Given the description of an element on the screen output the (x, y) to click on. 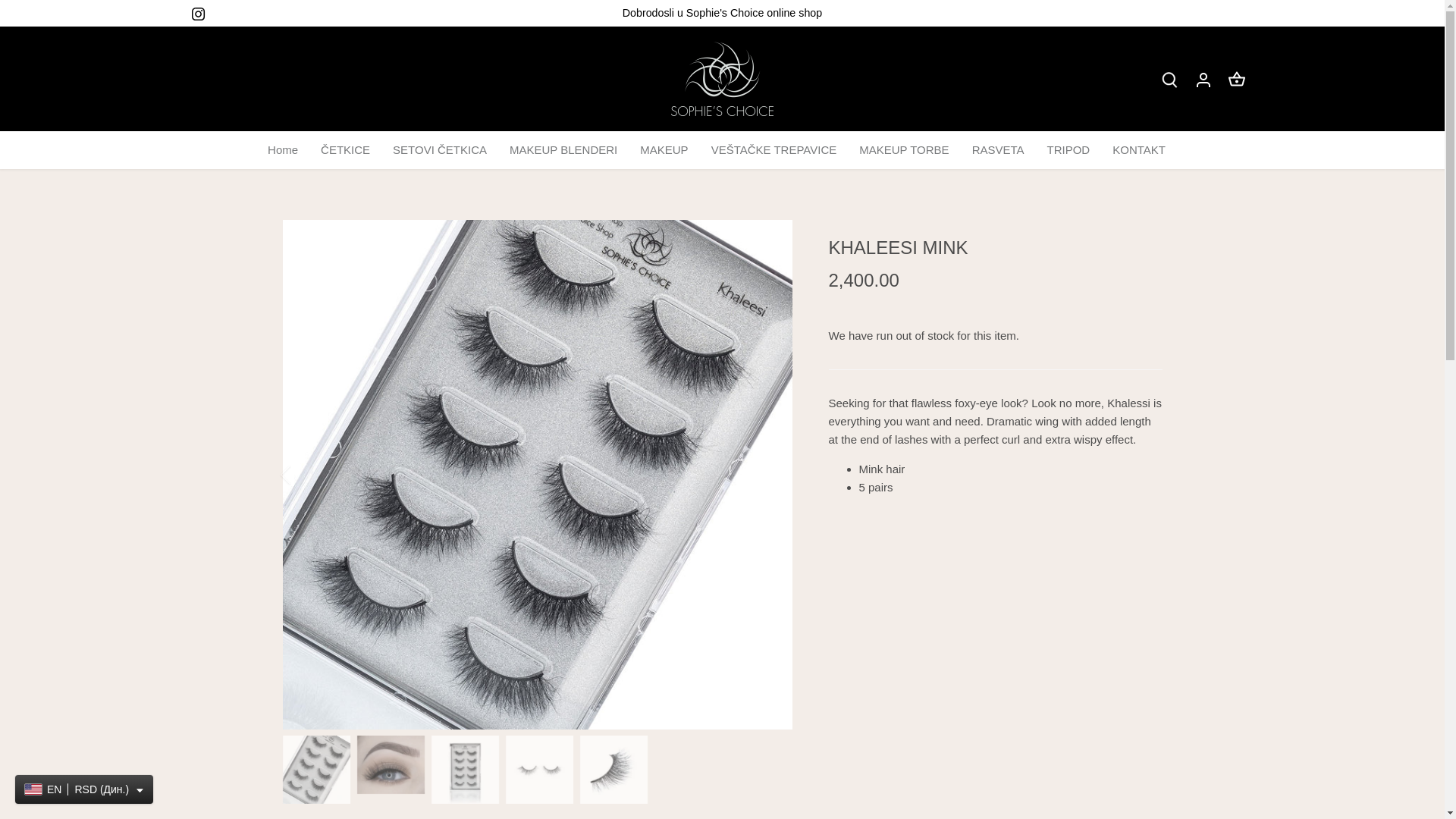
MAKEUP (663, 149)
RASVETA (997, 149)
KONTAKT (1138, 149)
Instagram (196, 13)
MAKEUP TORBE (903, 149)
Instagram (196, 12)
Go to cart (1235, 78)
MAKEUP BLENDERI (562, 149)
Home (287, 149)
TRIPOD (1068, 149)
